Given the description of an element on the screen output the (x, y) to click on. 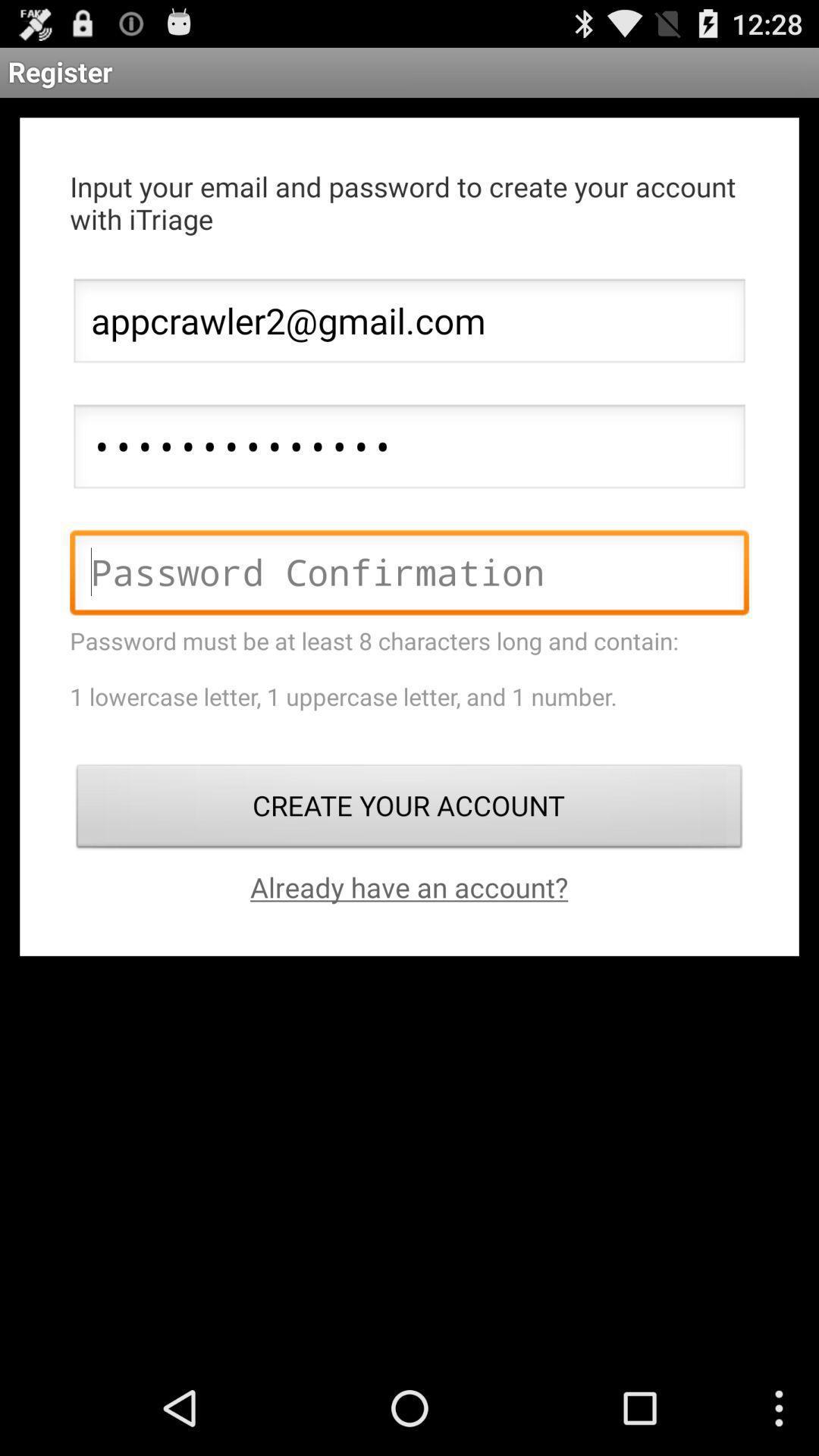
renter password (409, 576)
